Given the description of an element on the screen output the (x, y) to click on. 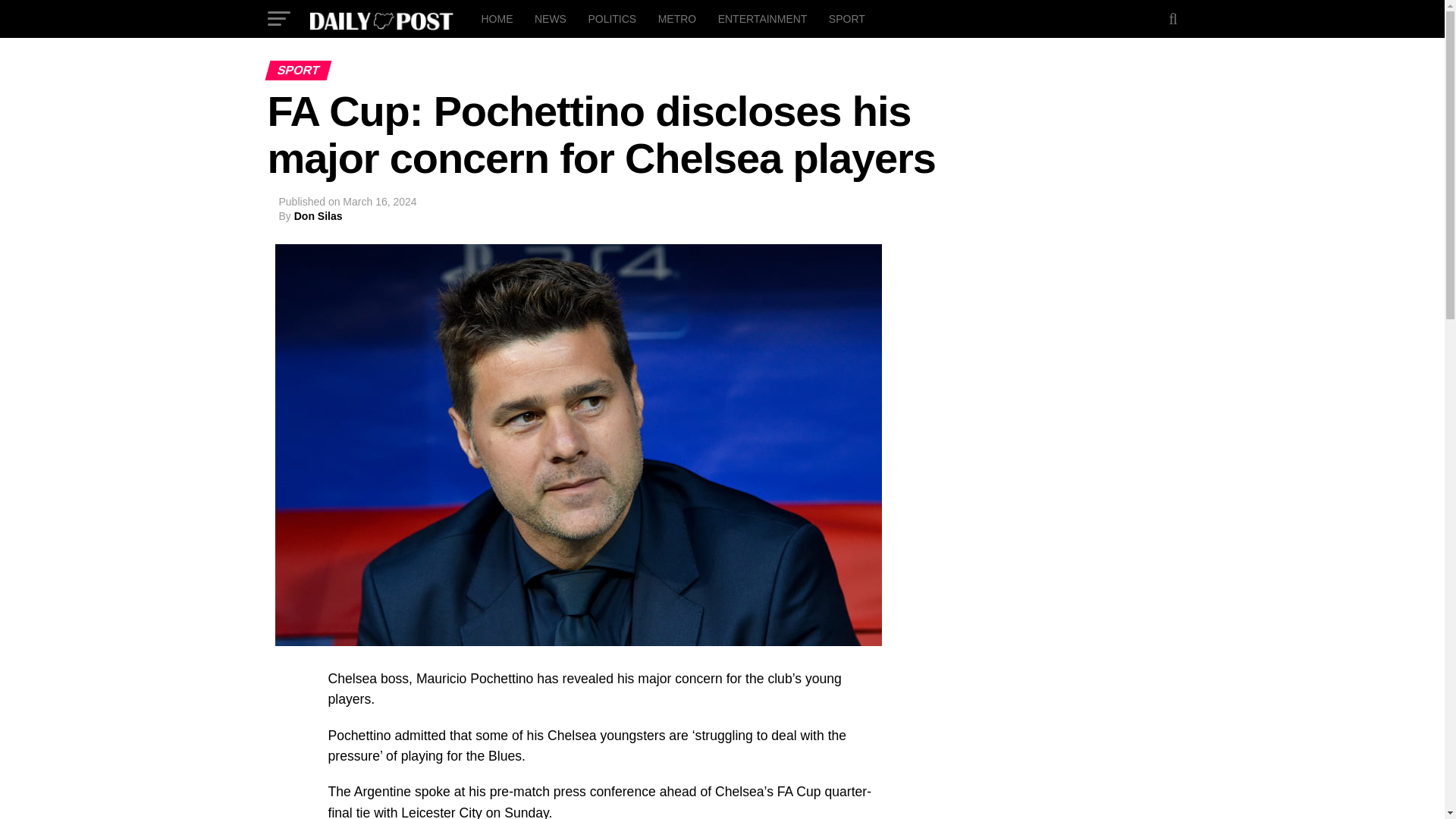
METRO (677, 18)
NEWS (550, 18)
SPORT (847, 18)
HOME (496, 18)
Posts by Don Silas (318, 215)
POLITICS (611, 18)
ENTERTAINMENT (762, 18)
Don Silas (318, 215)
